Given the description of an element on the screen output the (x, y) to click on. 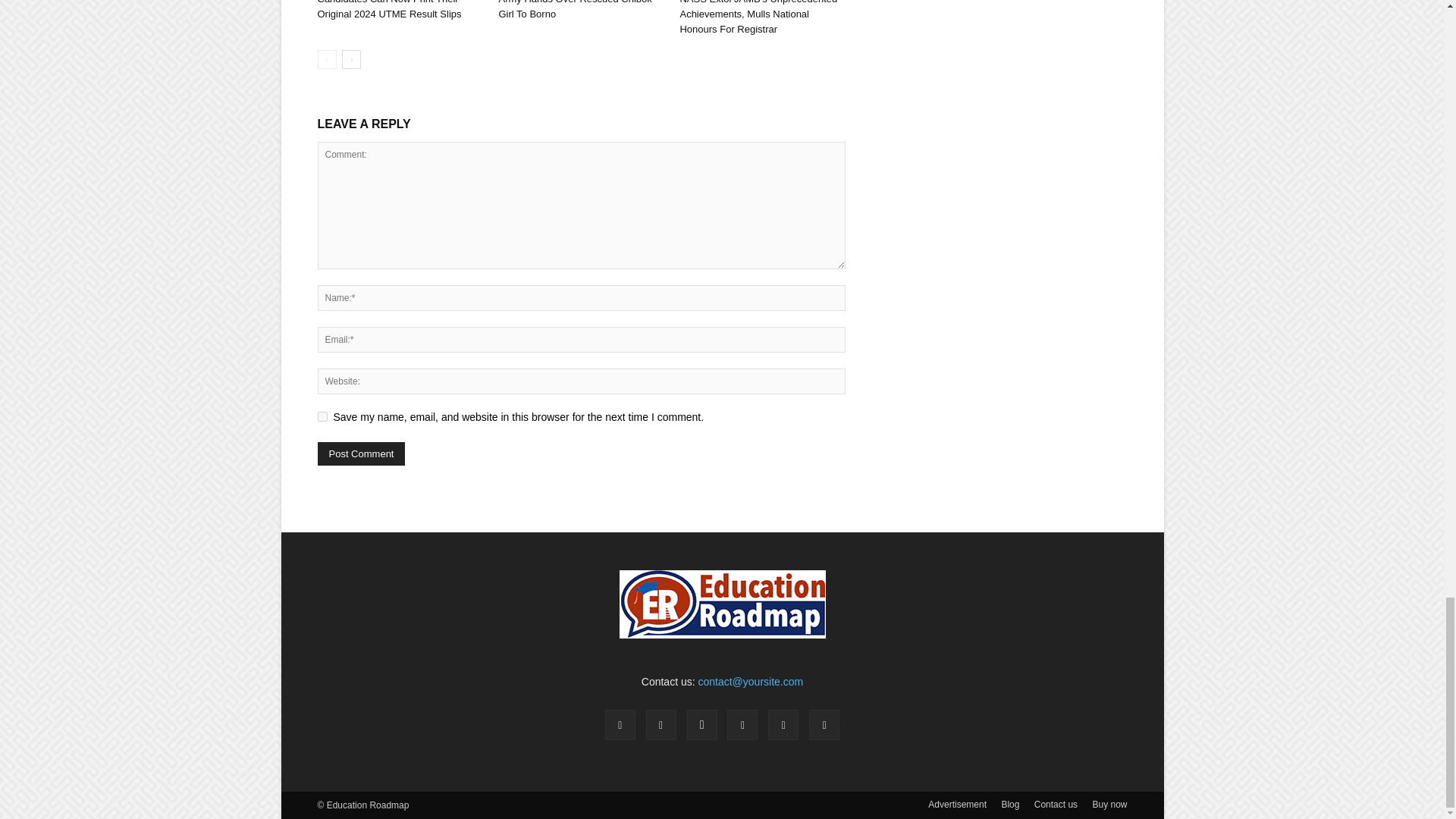
Post Comment (360, 454)
yes (321, 416)
